Given the description of an element on the screen output the (x, y) to click on. 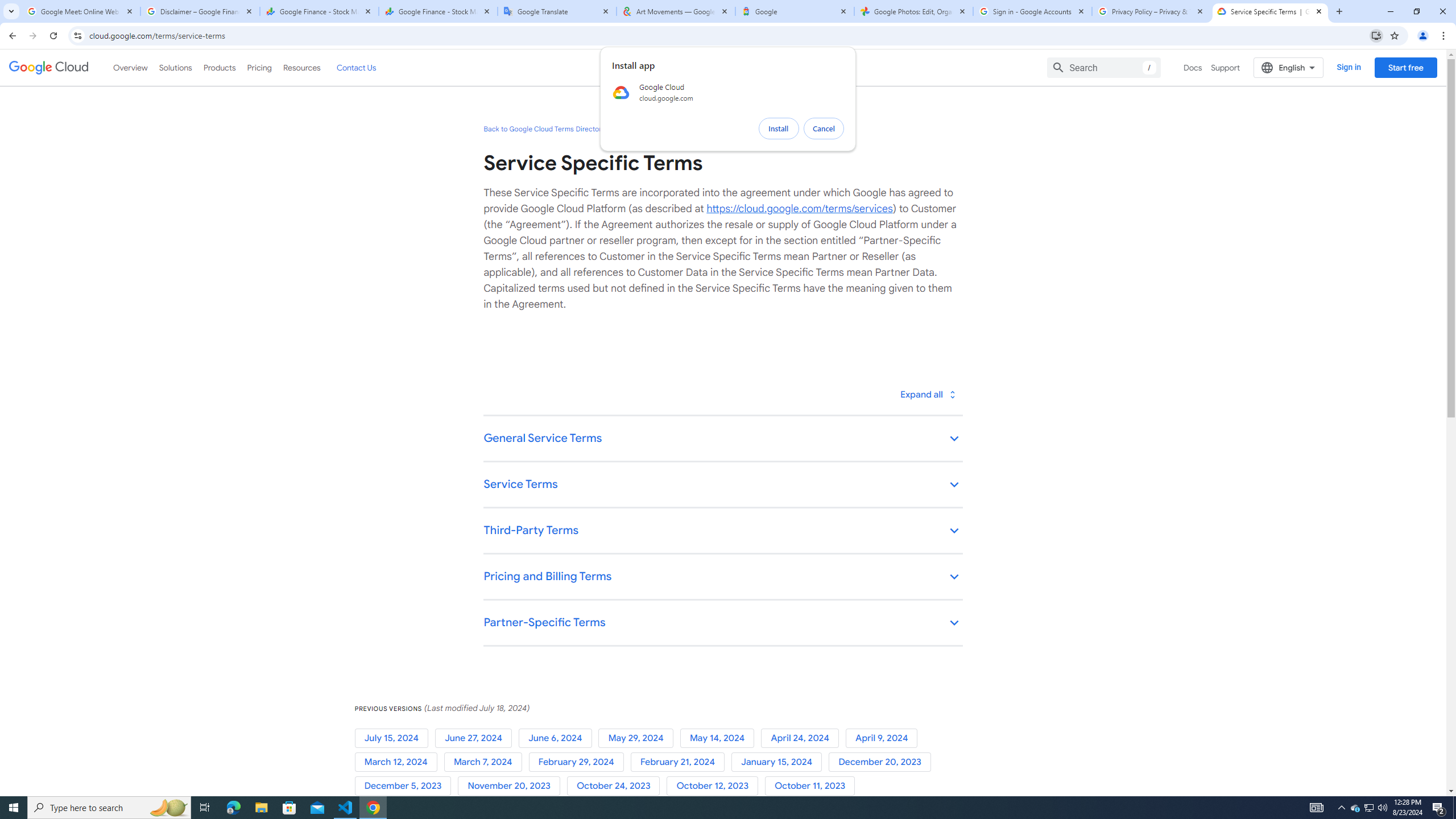
Toggle all (927, 393)
May 29, 2024 (638, 737)
February 29, 2024 (579, 761)
May 14, 2024 (720, 737)
Pricing and Billing Terms keyboard_arrow_down (722, 577)
Third-Party Terms keyboard_arrow_down (722, 531)
October 24, 2023 (616, 786)
Docs (1192, 67)
Start free (1405, 67)
December 20, 2023 (882, 761)
